Given the description of an element on the screen output the (x, y) to click on. 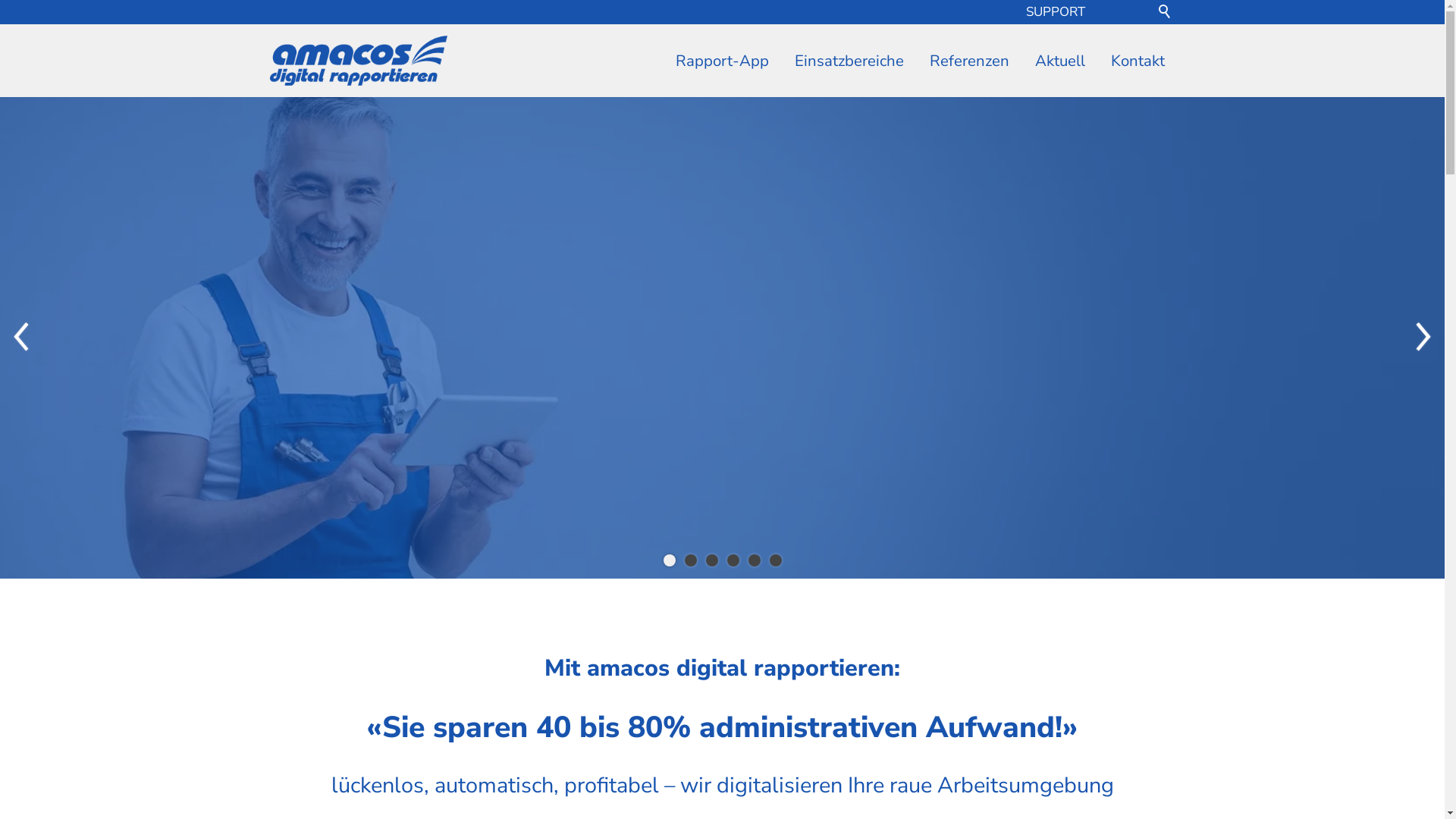
Referenzen Element type: text (968, 60)
Zur Startseite Element type: hover (357, 60)
Kontakt Element type: text (1137, 60)
Aktuell Element type: text (1060, 60)
Einsatzbereiche Element type: text (848, 60)
  Element type: text (1104, 12)
SUPPORT Element type: text (1055, 11)
  Element type: text (1134, 12)
Rapport-App Element type: text (721, 60)
